Given the description of an element on the screen output the (x, y) to click on. 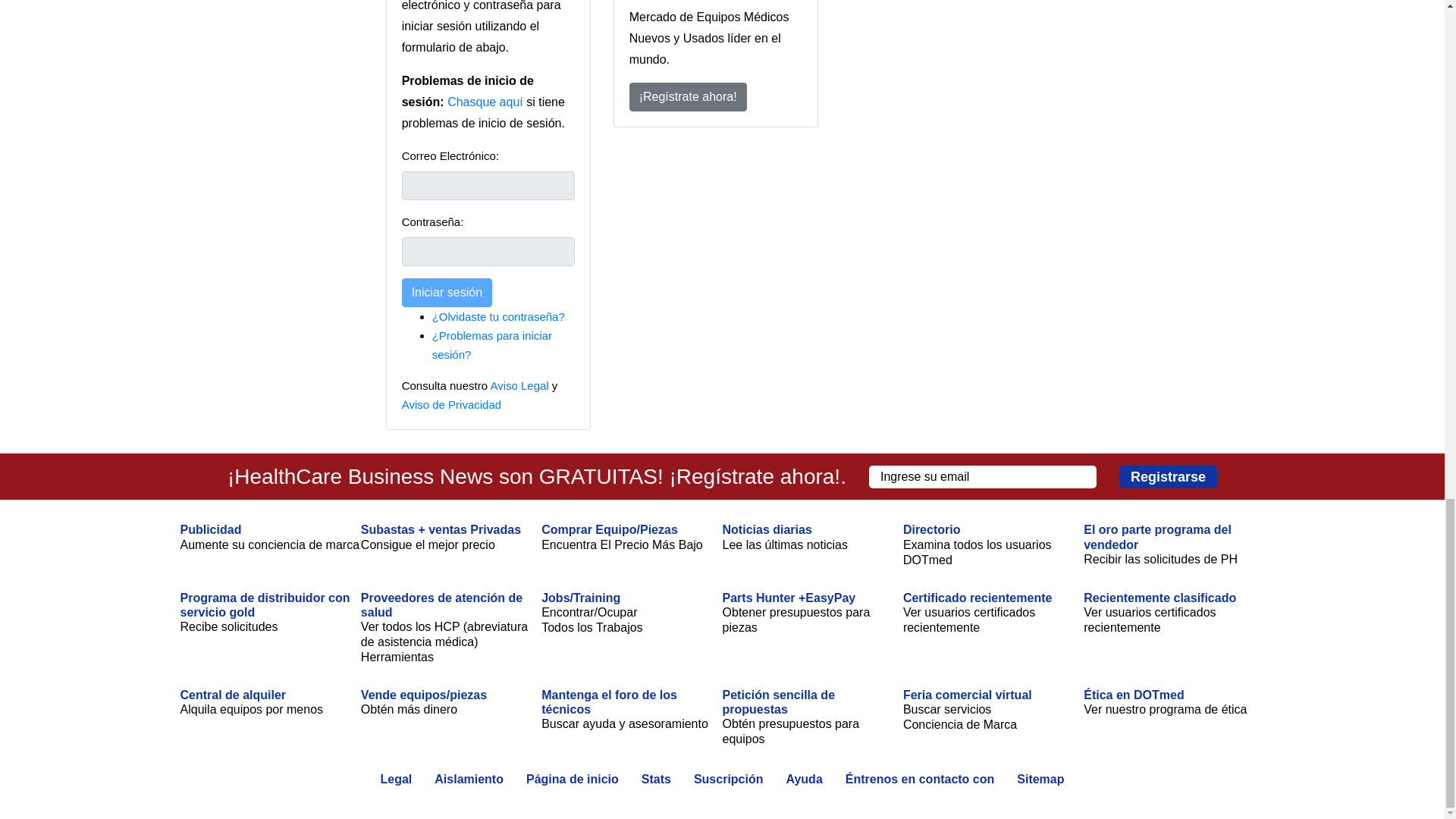
Forget your password? (498, 316)
Register Now! (687, 96)
Login Problems? (491, 345)
